Given the description of an element on the screen output the (x, y) to click on. 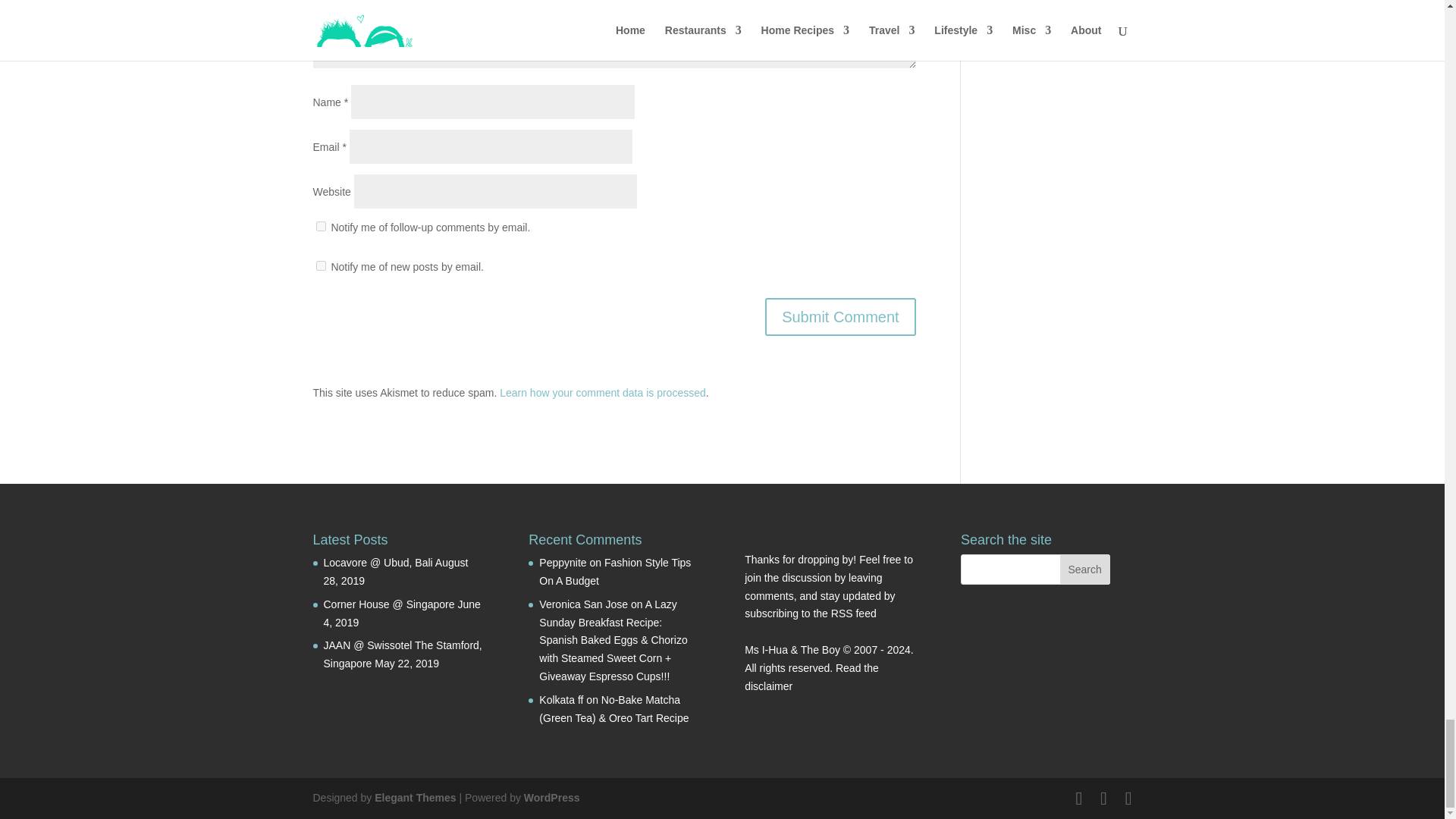
Search (1084, 569)
subscribe (319, 225)
subscribe (319, 266)
Premium WordPress Themes (414, 797)
Submit Comment (840, 316)
